Given the description of an element on the screen output the (x, y) to click on. 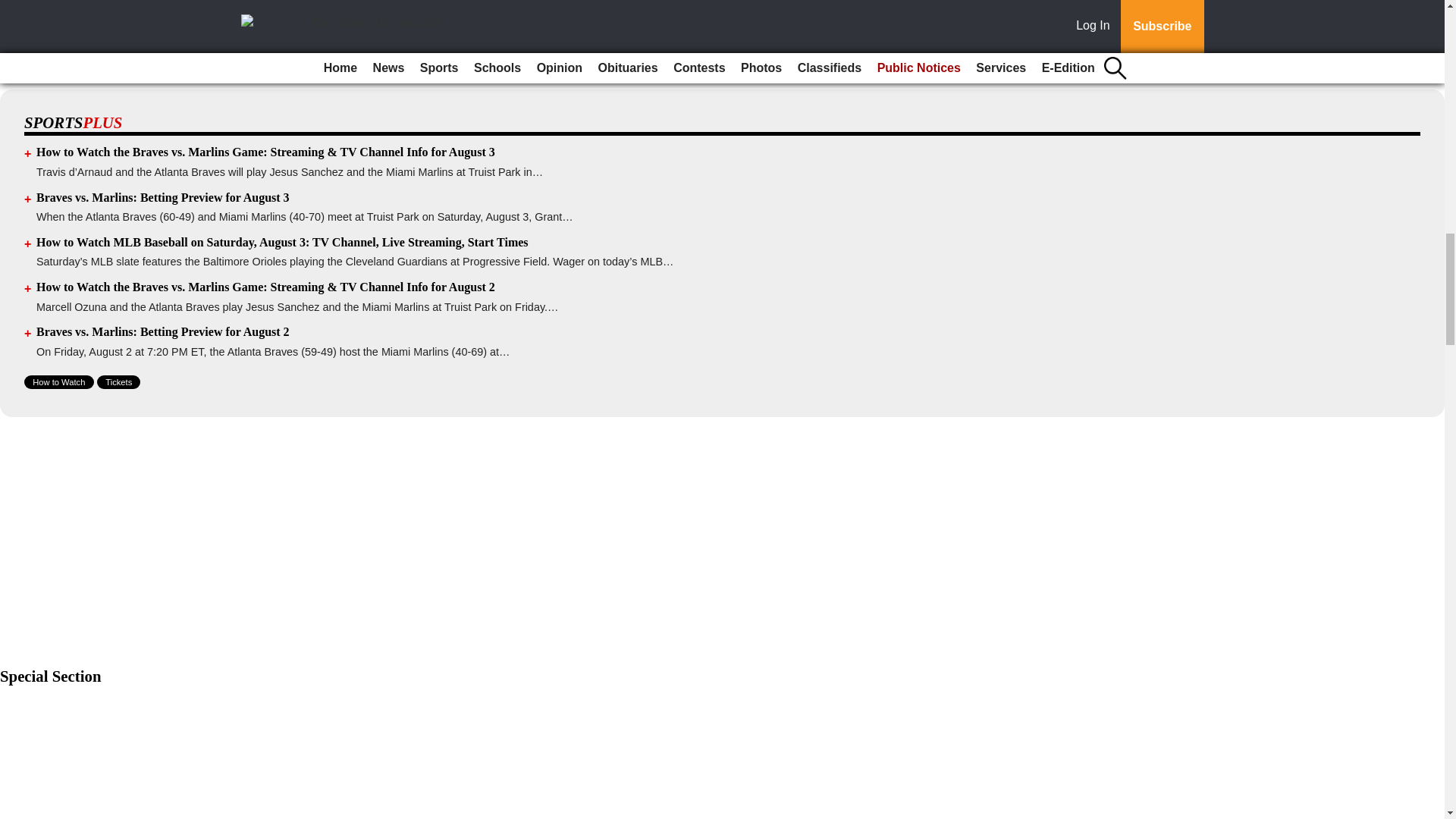
Tickets (118, 382)
Braves vs. Marlins: Betting Preview for August 3 (162, 196)
How to Watch (59, 382)
Braves vs. Marlins: Betting Preview for August 2 (162, 331)
